Given the description of an element on the screen output the (x, y) to click on. 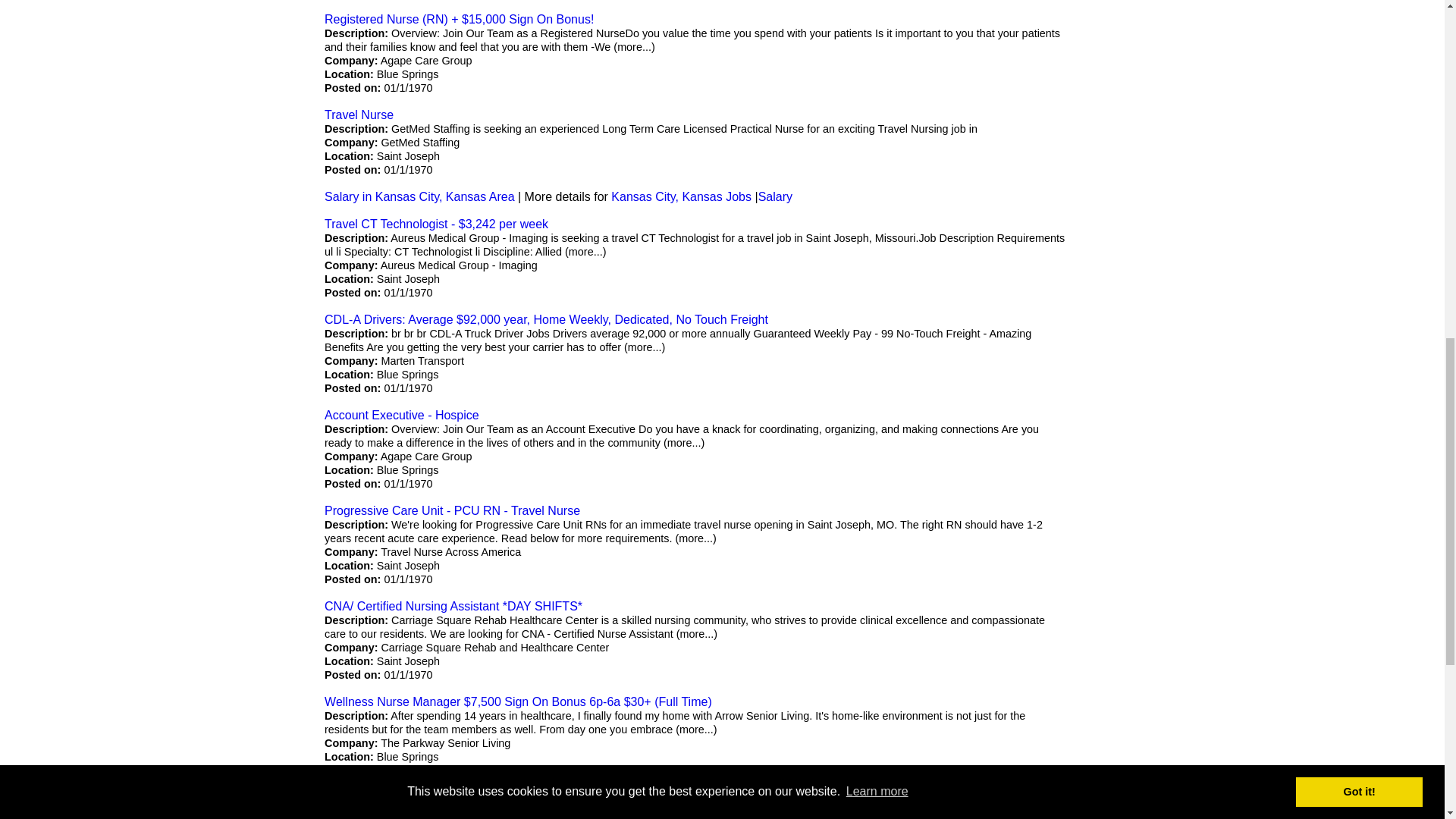
Travel Nurse (358, 114)
Account Executive - Hospice (401, 414)
Salary in Kansas City, Kansas Area (419, 196)
Travel Nurse (358, 114)
Kansas City, Kansas Jobs (681, 196)
Travel Nurse RN (369, 797)
Salary (775, 196)
Progressive Care Unit - PCU RN - Travel Nurse (451, 510)
